Given the description of an element on the screen output the (x, y) to click on. 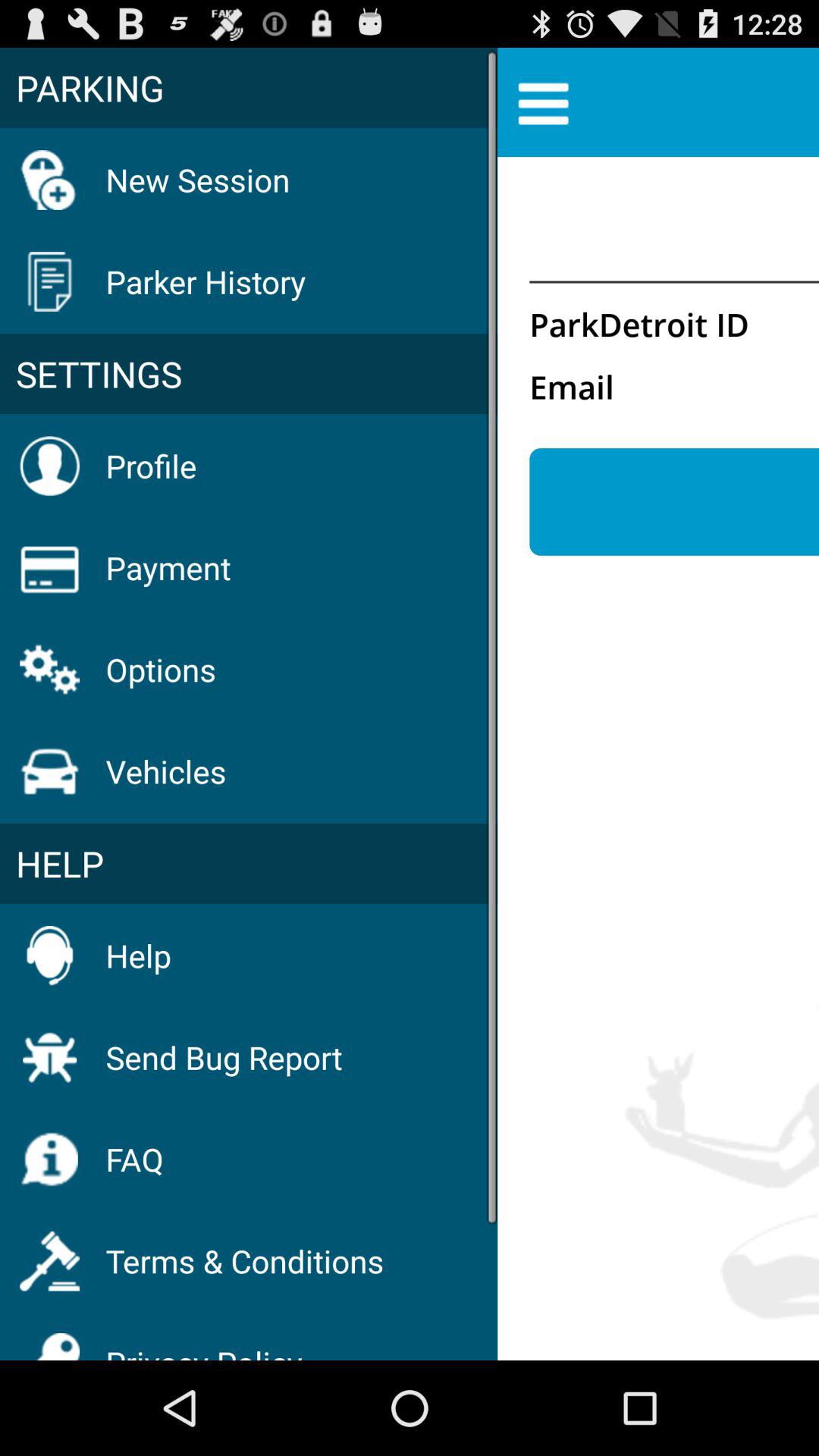
launch the options icon (160, 668)
